Given the description of an element on the screen output the (x, y) to click on. 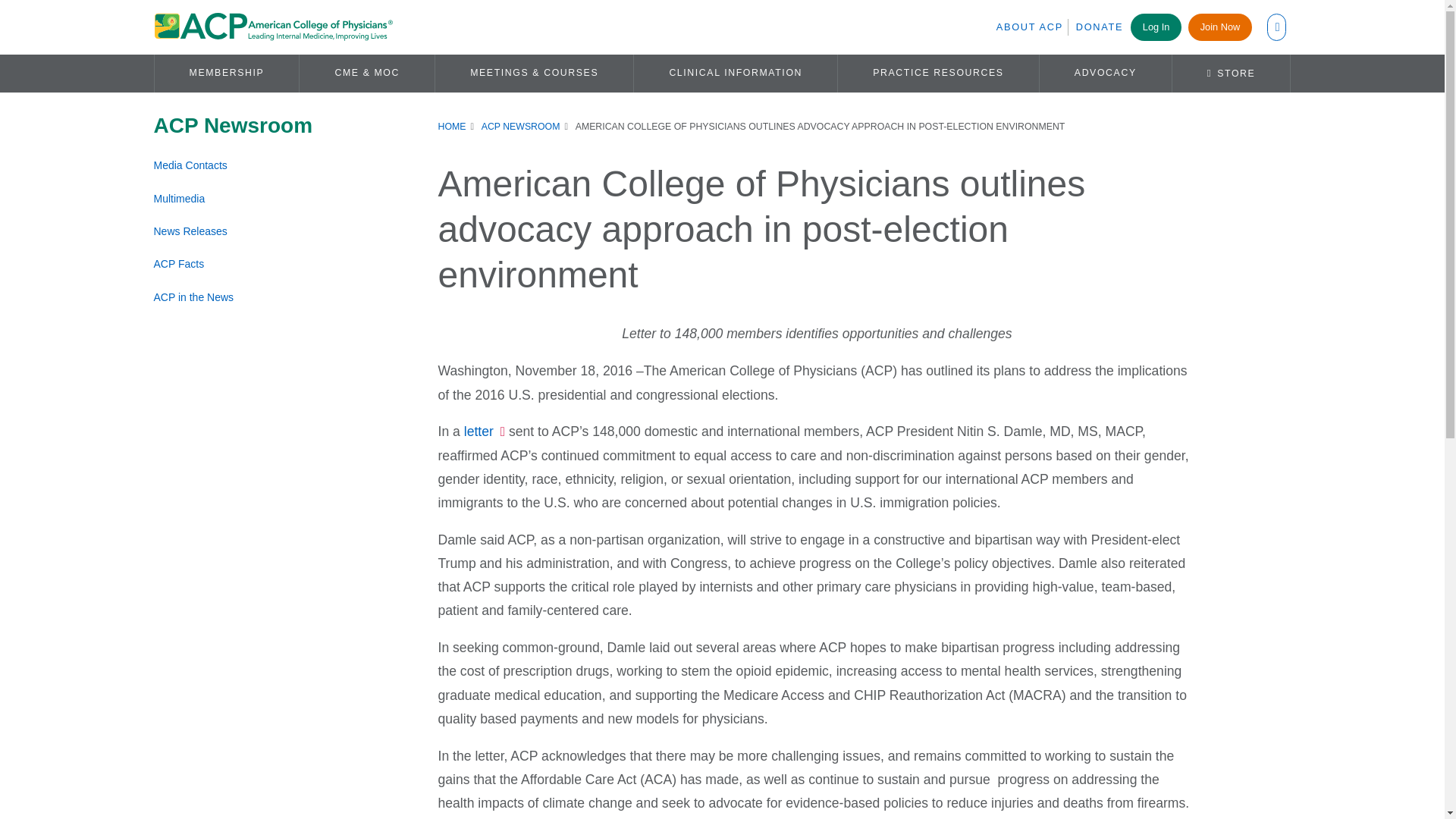
ABOUT ACP (1031, 27)
Home (271, 27)
CLINICAL INFORMATION (735, 73)
DONATE (1098, 27)
Join Now (1220, 26)
Search (725, 190)
MEMBERSHIP (226, 73)
Log in (1065, 269)
Log In (1156, 26)
